Given the description of an element on the screen output the (x, y) to click on. 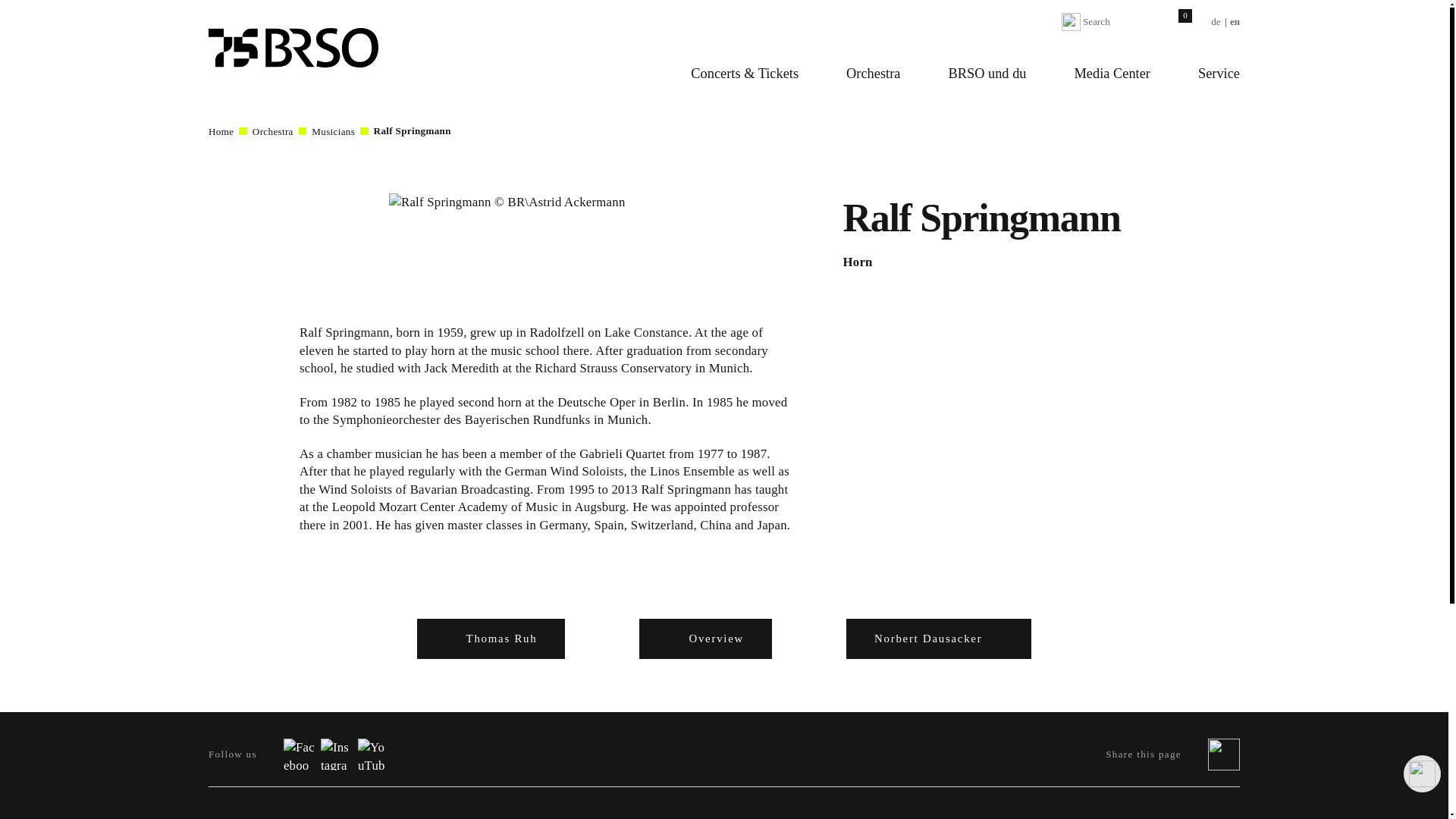
Overview (705, 639)
Norbert Dausacker (937, 639)
0 (1176, 21)
Service (1218, 74)
Shopping cart (1176, 21)
Thomas Ruh (491, 639)
BRSO und du (986, 74)
Login (1147, 21)
Orchestra (873, 74)
Home (229, 131)
